Given the description of an element on the screen output the (x, y) to click on. 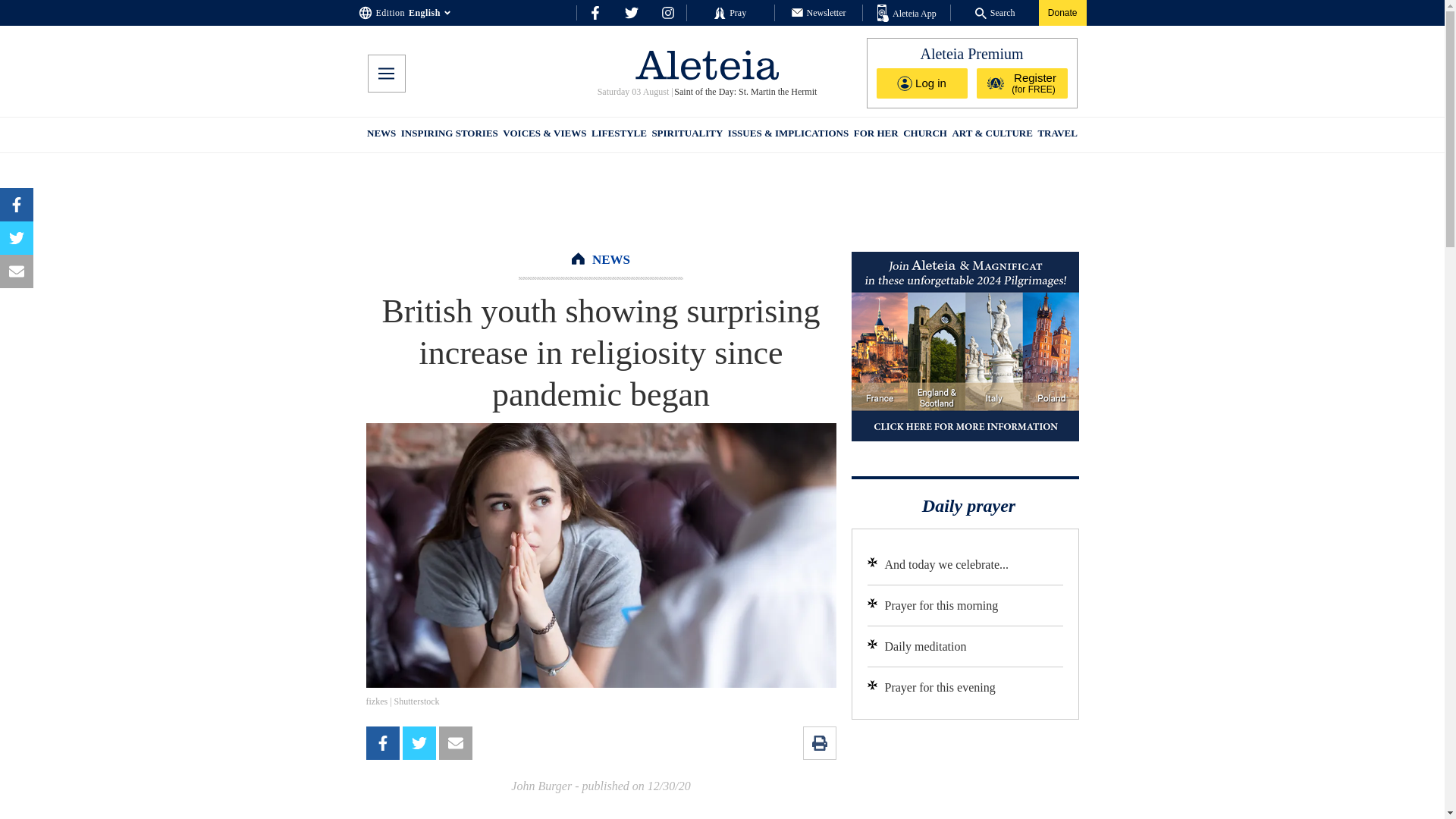
TRAVEL (1056, 134)
CHURCH (924, 134)
Search (994, 12)
social-ig-top-row (668, 12)
Log in (922, 82)
SPIRITUALITY (686, 134)
FOR HER (875, 134)
LIFESTYLE (618, 134)
Newsletter (818, 12)
Saint of the Day: St. Martin the Hermit (744, 91)
Pray (729, 12)
NEWS (611, 259)
logo-header (706, 64)
social-tw-top-row (631, 12)
social-fb-top-row (595, 12)
